Given the description of an element on the screen output the (x, y) to click on. 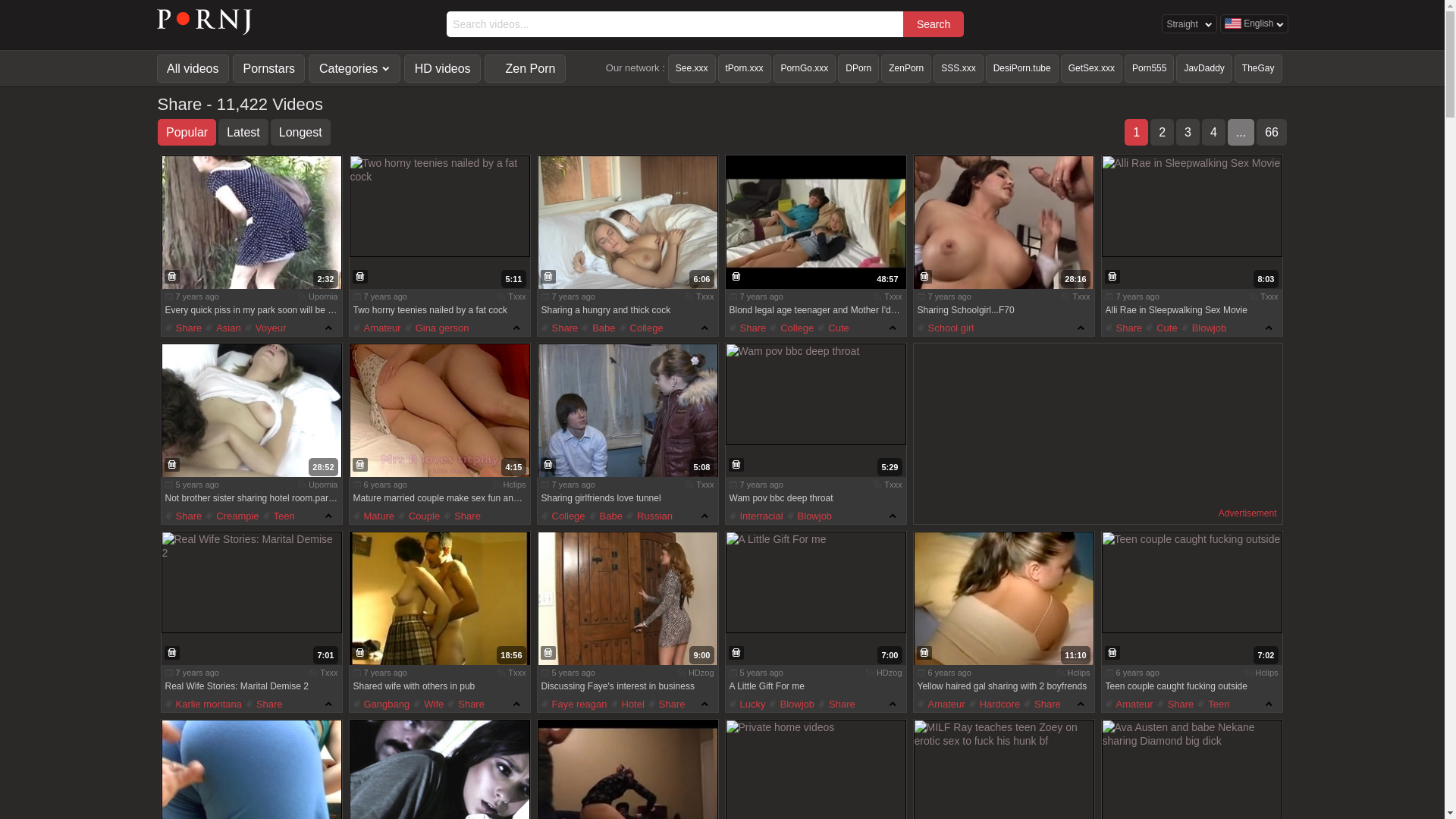
Report Element type: hover (923, 276)
Txxx Element type: text (892, 484)
Amateur Element type: text (377, 327)
Upornia Element type: text (323, 296)
Wife Element type: text (428, 704)
Hardcore Element type: text (994, 704)
Share Element type: text (666, 704)
Lucky Element type: text (747, 704)
Porn555 Element type: text (1148, 68)
Alli Rae in Sleepwalking Sex Movie Element type: hover (1191, 206)
Share Element type: text (183, 327)
Creampie Element type: text (231, 516)
Share Element type: text (465, 704)
Txxx Element type: text (516, 672)
Not brother sister sharing hotel room.part 1 Element type: hover (250, 411)
Blowjob Element type: text (809, 516)
DPorn Element type: text (857, 68)
Popular Element type: text (186, 132)
Report Element type: hover (923, 652)
All videos Element type: text (192, 68)
Hclips Element type: text (1078, 672)
Share Element type: text (559, 327)
Txxx Element type: text (1080, 296)
Hotel Element type: text (627, 704)
Mature Element type: text (373, 516)
Two horny teenies nailed by a fat cock Element type: hover (438, 206)
DesiPorn.tube Element type: text (1021, 68)
HDzog Element type: text (701, 672)
Couple Element type: text (418, 516)
Zen Porn Element type: text (524, 68)
ZenPorn Element type: text (906, 68)
Sharing a hungry and thick cock Element type: hover (626, 223)
2 Element type: text (1161, 132)
Report Element type: hover (359, 464)
Hclips Element type: text (514, 484)
PornJ.com - Free XXX Videos Element type: hover (203, 29)
Share Element type: text (1123, 327)
Asian Element type: text (223, 327)
Longest Element type: text (300, 132)
Teen Element type: text (1213, 704)
HD videos Element type: text (442, 68)
Advertisement Element type: text (1247, 514)
School girl Element type: text (945, 327)
Txxx Element type: text (704, 296)
College Element type: text (563, 516)
Report Element type: hover (359, 652)
Report Element type: hover (735, 464)
Faye reagan Element type: text (574, 704)
Babe Element type: text (598, 327)
Share Element type: text (836, 704)
Txxx Element type: text (704, 484)
Upornia Element type: text (323, 484)
Search Element type: text (933, 24)
Teen couple caught fucking outside Element type: hover (1191, 582)
4 Element type: text (1213, 132)
See.xxx Element type: text (691, 68)
HDzog Element type: text (889, 672)
Share Element type: text (1041, 704)
Txxx Element type: text (1268, 296)
Teen Element type: text (278, 516)
Txxx Element type: text (892, 296)
Share Element type: text (263, 704)
Report Element type: hover (735, 276)
Report Element type: hover (170, 652)
Report Element type: hover (1111, 276)
Karlie montana Element type: text (203, 704)
66 Element type: text (1271, 132)
TheGay Element type: text (1258, 68)
Share Element type: text (747, 327)
Voyeur Element type: text (264, 327)
College Element type: text (791, 327)
College Element type: text (641, 327)
PornGo.xxx Element type: text (804, 68)
Babe Element type: text (605, 516)
Report Element type: hover (170, 276)
GetSex.xxx Element type: text (1091, 68)
Cute Element type: text (832, 327)
Shared wife with others in pub Element type: hover (438, 599)
Report Element type: hover (170, 464)
Share Element type: text (183, 516)
Report Element type: hover (547, 276)
Blowjob Element type: text (1203, 327)
Every quick piss in my park soon will be shared here Element type: hover (250, 223)
Share Element type: text (1175, 704)
SSS.xxx Element type: text (957, 68)
Gina gerson Element type: text (436, 327)
3 Element type: text (1187, 132)
Cute Element type: text (1160, 327)
Wam pov bbc deep throat Element type: hover (814, 394)
Gangbang Element type: text (381, 704)
Report Element type: hover (547, 464)
Blowjob Element type: text (791, 704)
Txxx Element type: text (328, 672)
Russian Element type: text (649, 516)
Amateur Element type: text (941, 704)
A Little Gift For me Element type: hover (814, 582)
Real Wife Stories: Marital Demise 2 Element type: hover (250, 582)
Sharing Schoolgirl...F70 Element type: hover (1003, 223)
Share Element type: text (461, 516)
Report Element type: hover (1111, 652)
Report Element type: hover (547, 652)
Latest Element type: text (243, 132)
Hclips Element type: text (1266, 672)
Report Element type: hover (735, 652)
Interracial Element type: text (756, 516)
Sharing girlfriends love tunnel Element type: hover (626, 411)
Txxx Element type: text (516, 296)
Yellow haired gal sharing with 2 boyfrends Element type: hover (1003, 599)
JavDaddy Element type: text (1203, 68)
Amateur Element type: text (1129, 704)
Report Element type: hover (359, 276)
tPorn.xxx Element type: text (744, 68)
Discussing Faye's interest in business Element type: hover (626, 599)
Pornstars Element type: text (268, 68)
